Given the description of an element on the screen output the (x, y) to click on. 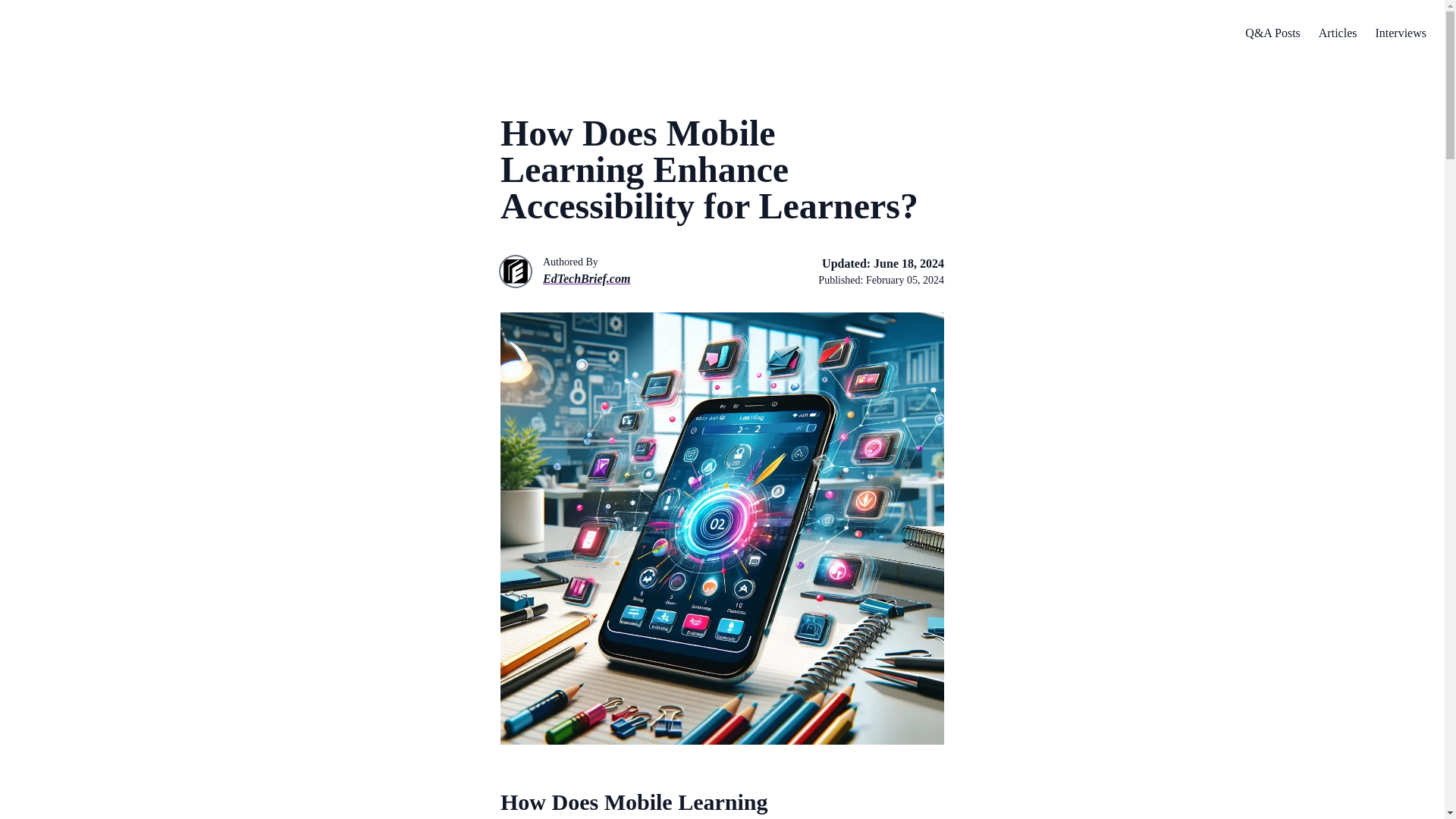
Articles (1337, 33)
EdTechBrief.com (586, 279)
Interviews (1400, 33)
